Given the description of an element on the screen output the (x, y) to click on. 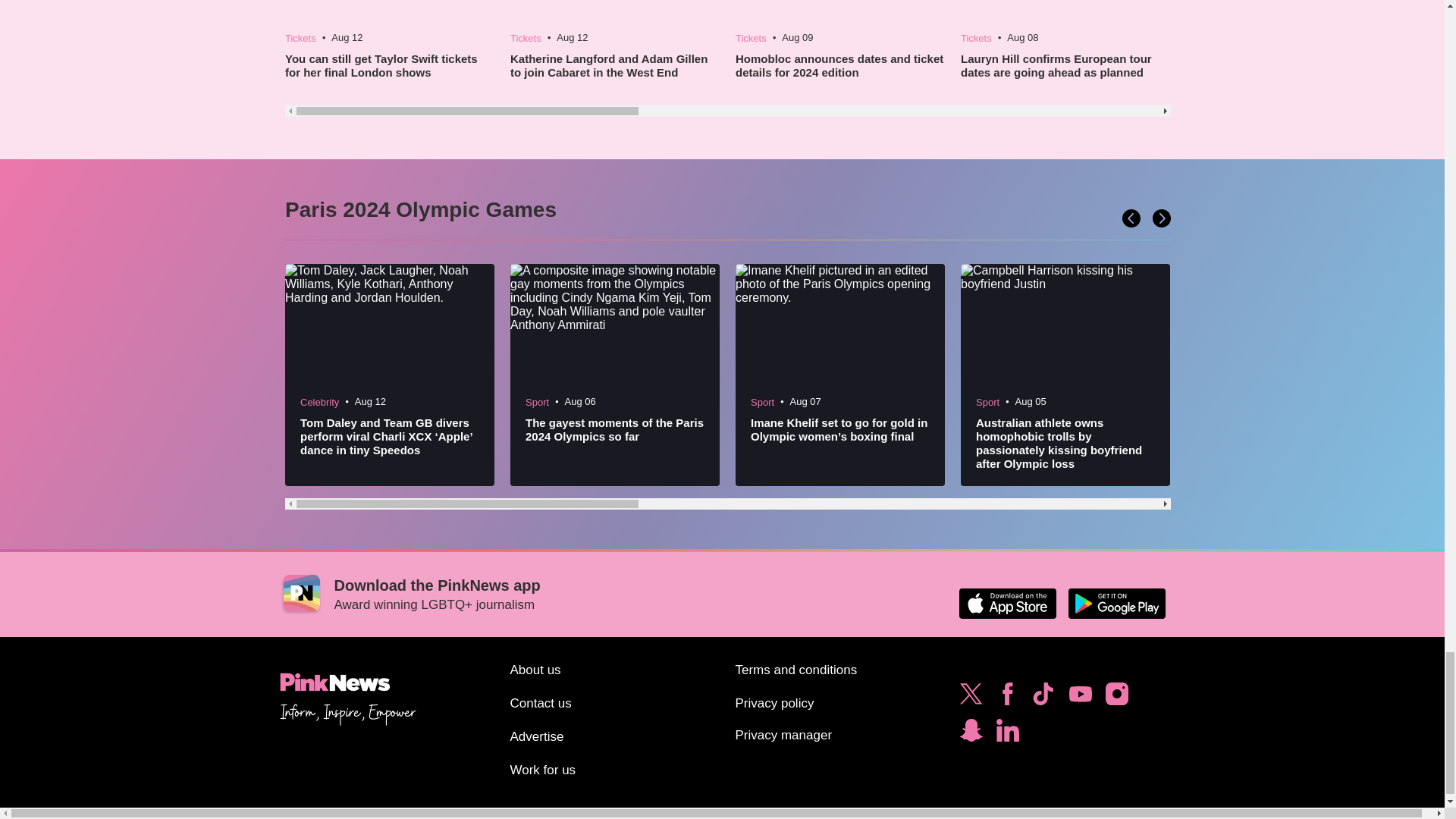
Follow PinkNews on Twitter (970, 697)
Subscribe to PinkNews on YouTube (1079, 697)
Subscribe to PinkNews on Snapchat (970, 733)
Follow PinkNews on Instagram (1116, 697)
Follow PinkNews on LinkedIn (1007, 733)
Download the PinkNews app on the Apple App Store (1006, 603)
Follow PinkNews on TikTok (1042, 697)
Download the PinkNews app on Google Play (1115, 603)
